Given the description of an element on the screen output the (x, y) to click on. 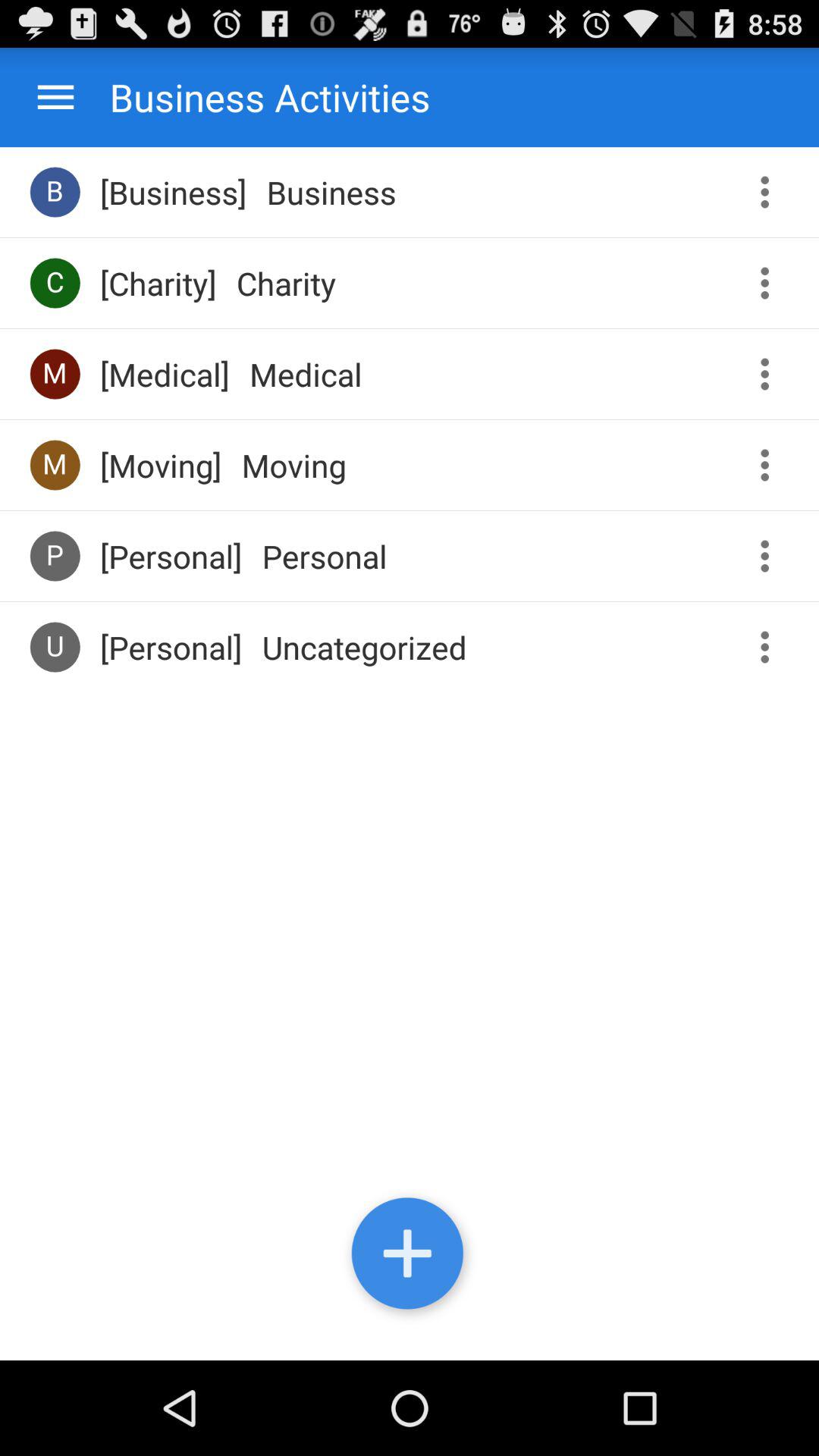
edit options (770, 374)
